Given the description of an element on the screen output the (x, y) to click on. 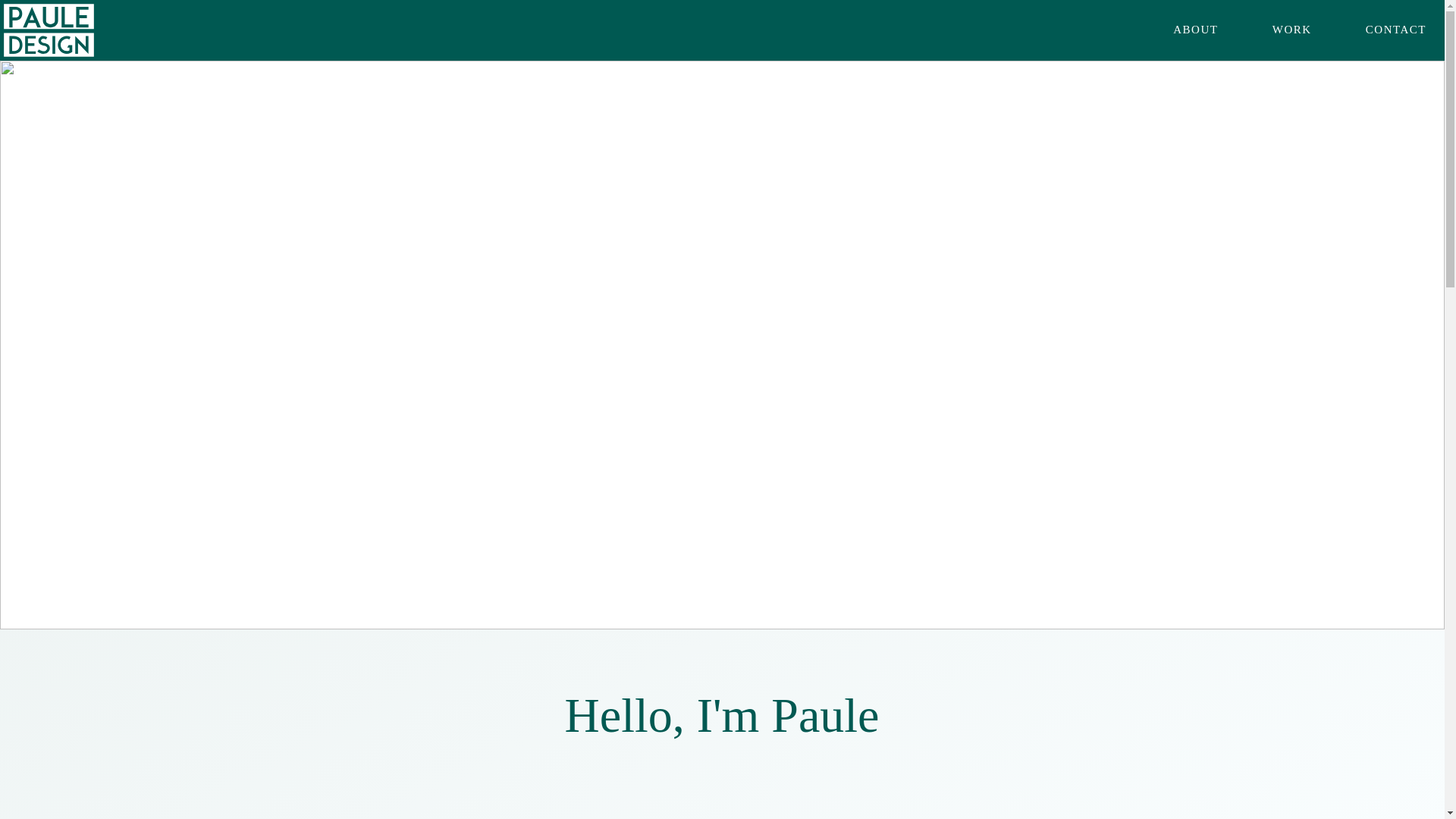
CONTACT (1379, 29)
ABOUT (1178, 29)
